Given the description of an element on the screen output the (x, y) to click on. 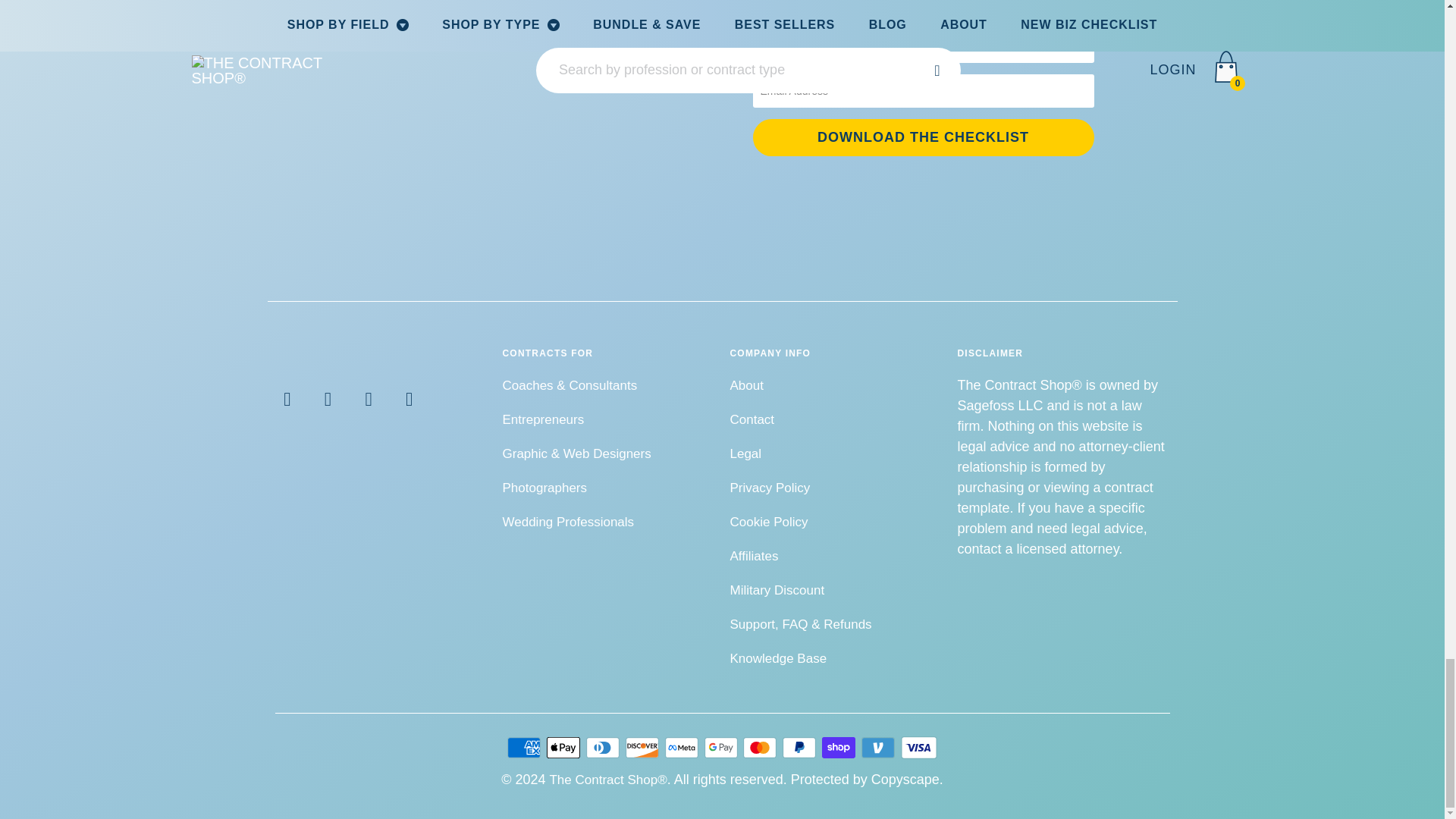
Shop Pay (840, 747)
Discover (644, 747)
Visa (919, 747)
Apple Pay (565, 747)
Google Pay (721, 747)
American Express (524, 747)
PayPal (800, 747)
Venmo (879, 747)
Meta Pay (683, 747)
Diners Club (604, 747)
Mastercard (760, 747)
